Given the description of an element on the screen output the (x, y) to click on. 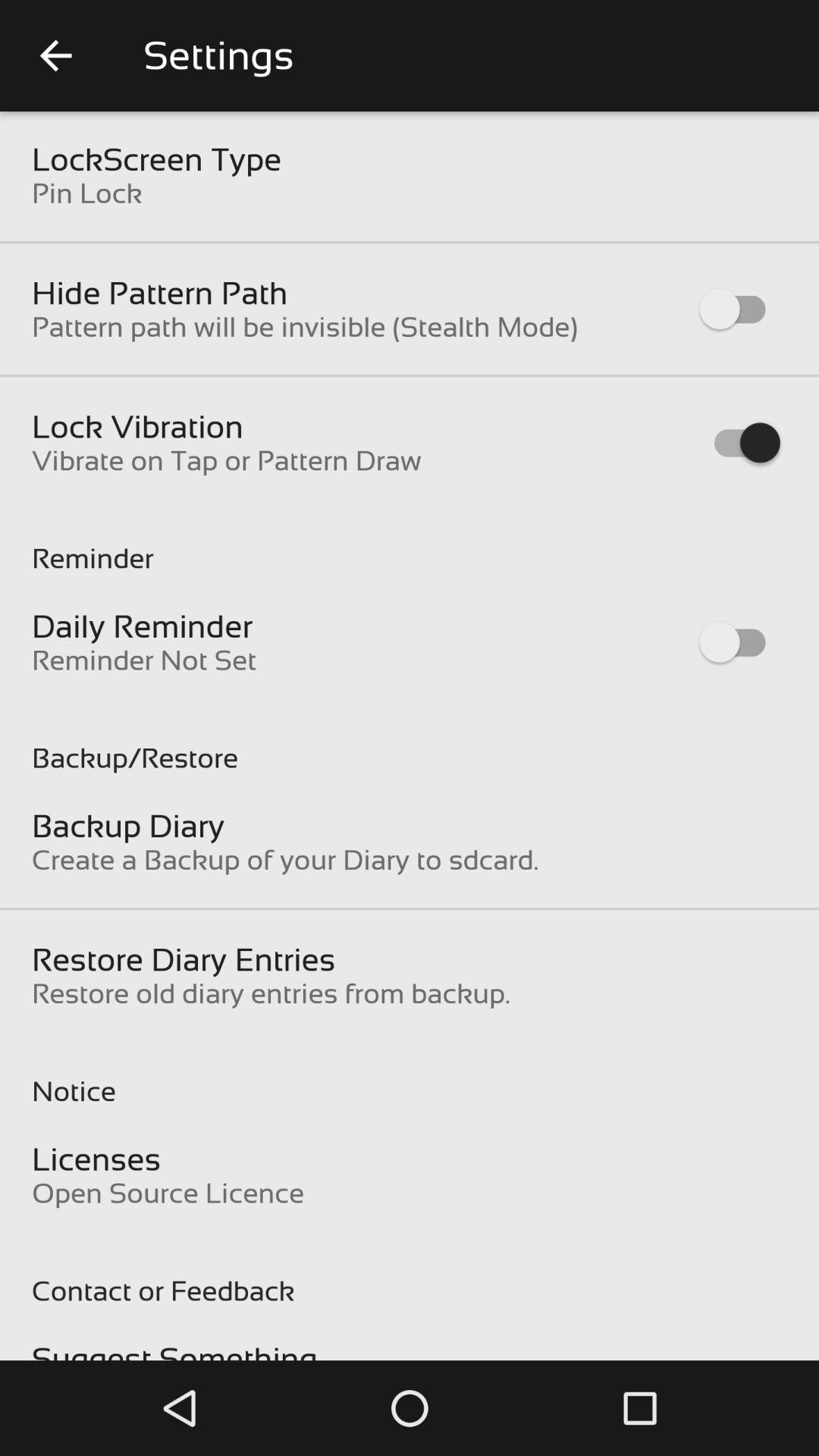
scroll to the reminder not set (143, 660)
